Given the description of an element on the screen output the (x, y) to click on. 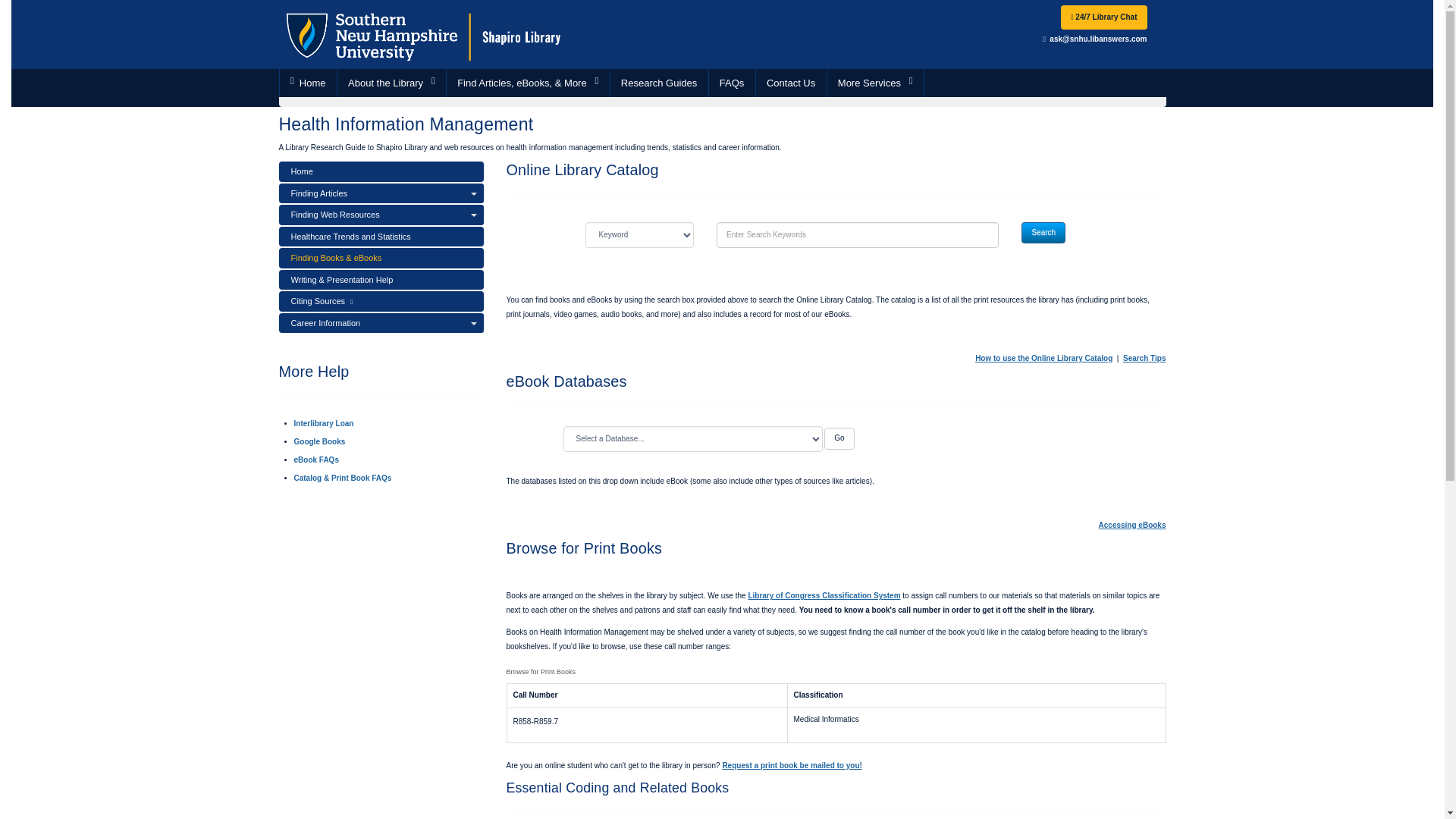
FAQs (732, 82)
Contact Us (791, 82)
About the Library    (391, 82)
Click to Navigate to the Library Homepage (307, 82)
Click to Navigate to the Library Homepage (424, 34)
Search (1043, 232)
Research Guides (658, 82)
More Services    (875, 82)
